Given the description of an element on the screen output the (x, y) to click on. 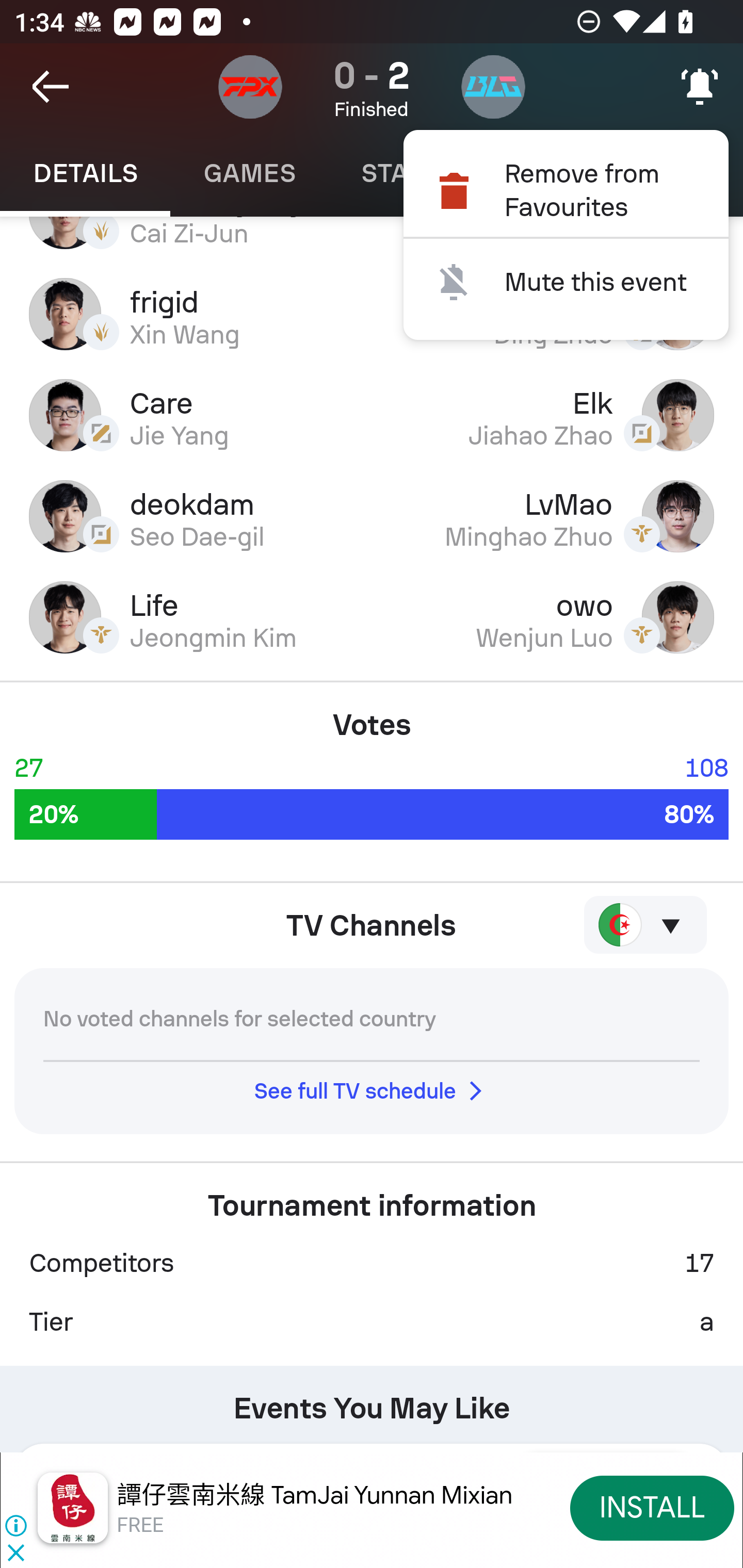
Remove from Favourites (565, 190)
Mute this event (565, 282)
